Given the description of an element on the screen output the (x, y) to click on. 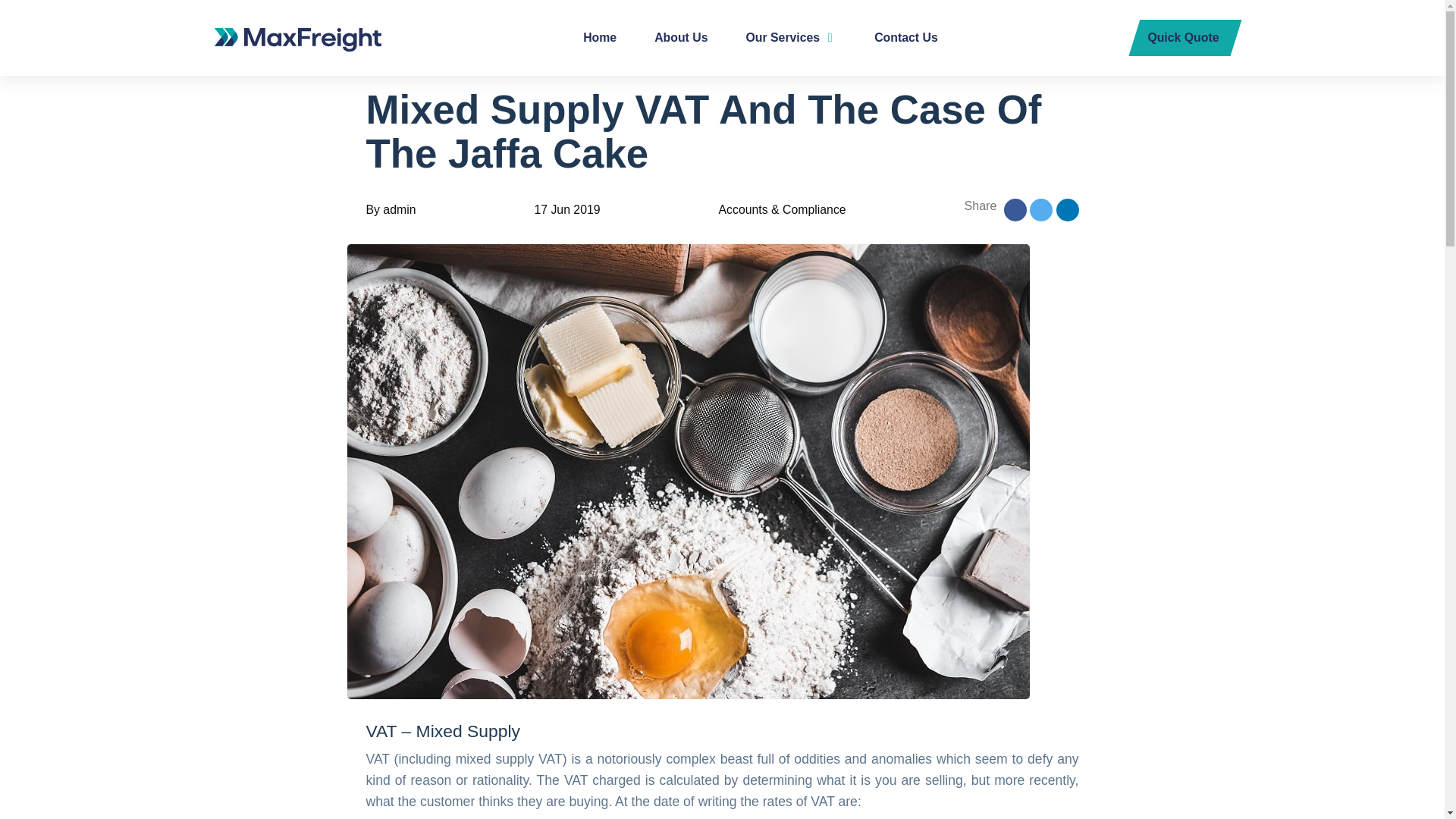
Quick Quote (1184, 37)
Share on Twitter (1040, 210)
Back to Insights (432, 46)
Contact Us (906, 38)
Share on Facebook (1015, 210)
Home (599, 38)
About Us (680, 38)
Share on LinkedIn (1066, 210)
Our Services (790, 38)
